Given the description of an element on the screen output the (x, y) to click on. 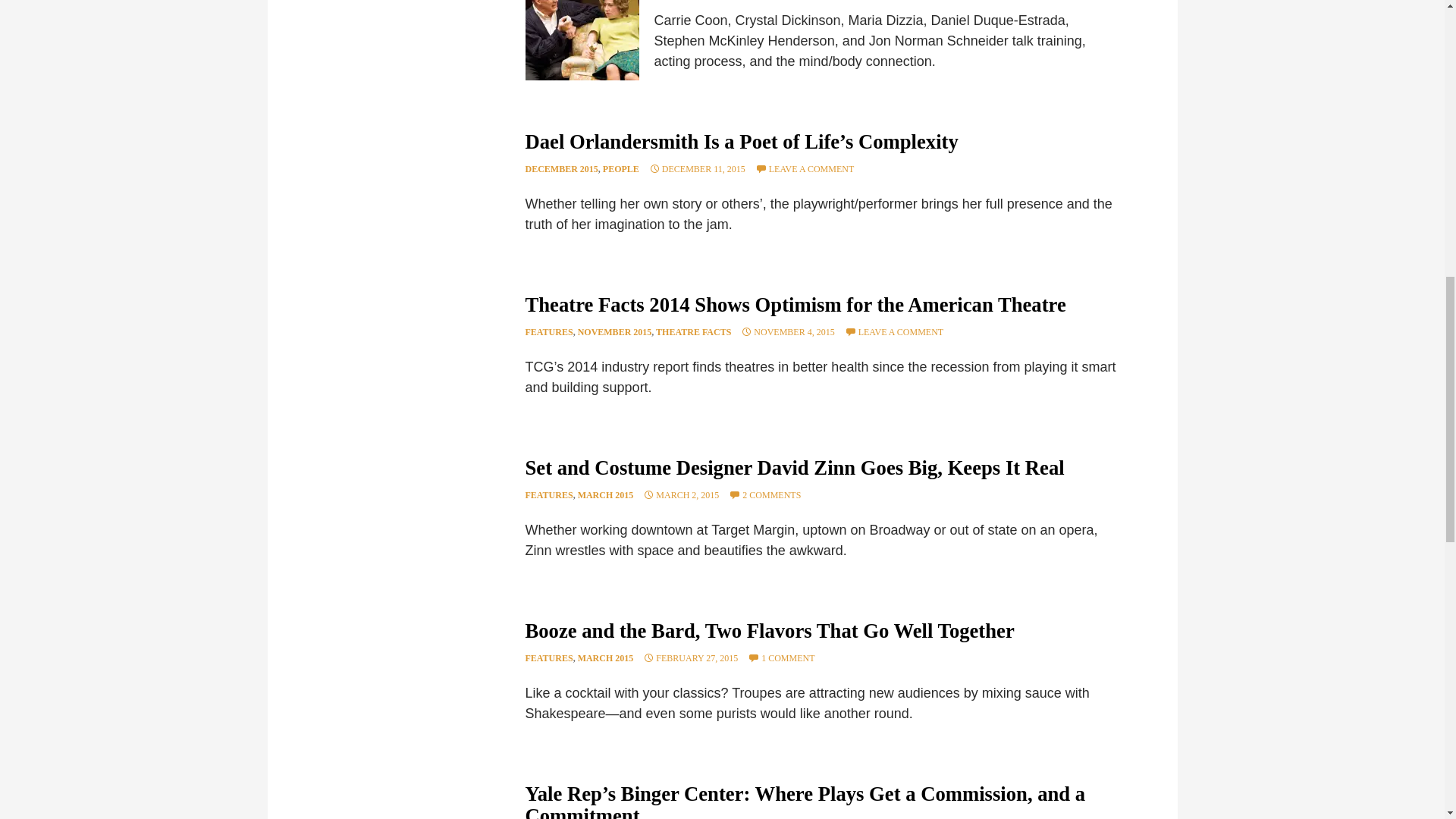
View all posts in December 2015 (560, 168)
An Actor Prepares: 6 Performers Detail Their Processes (581, 40)
View all posts in People (620, 168)
View all posts in Features (548, 331)
View all posts in November 2015 (615, 331)
